Given the description of an element on the screen output the (x, y) to click on. 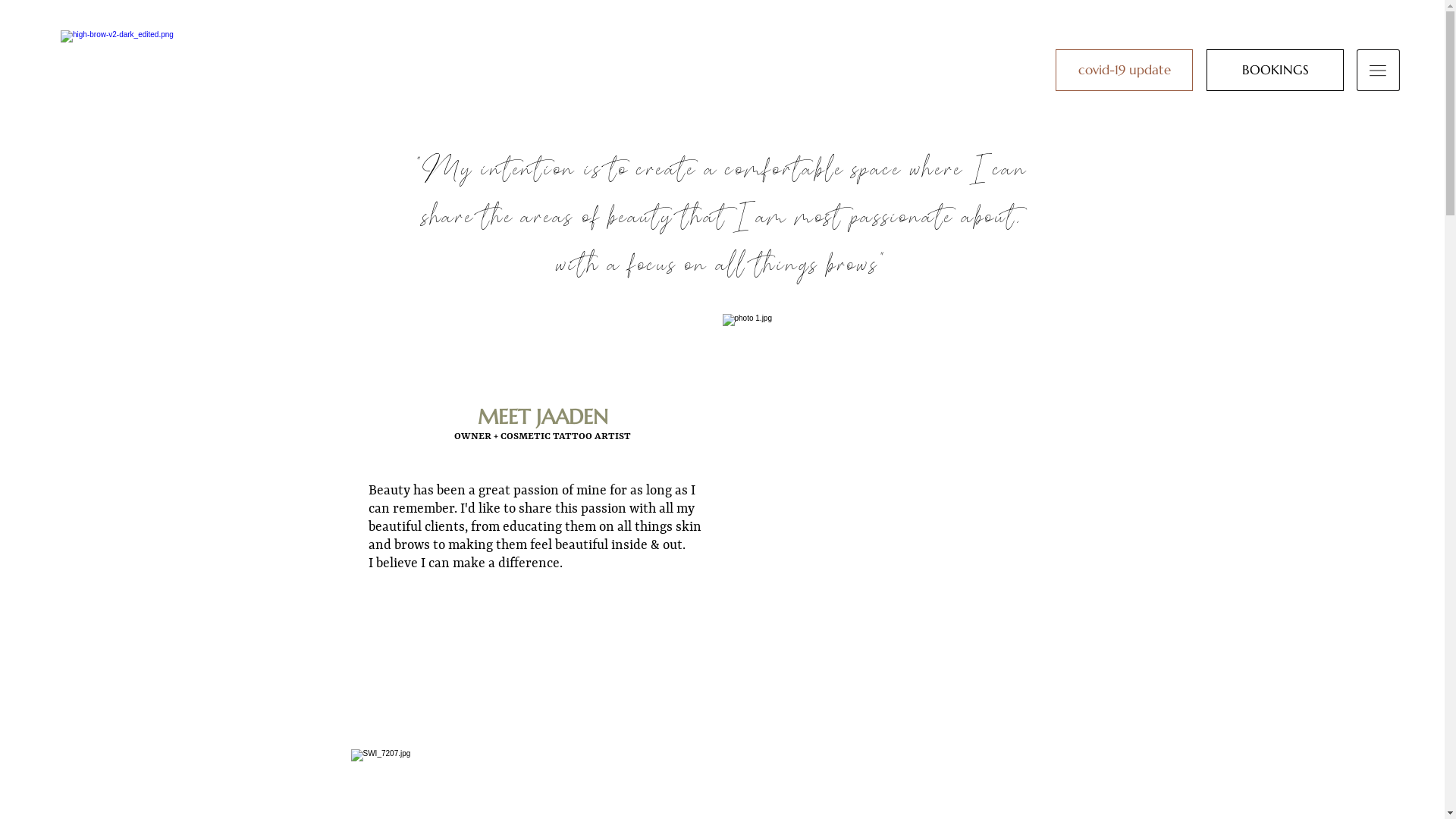
BOOKINGS Element type: text (1274, 70)
covid-19 update Element type: text (1123, 70)
